Given the description of an element on the screen output the (x, y) to click on. 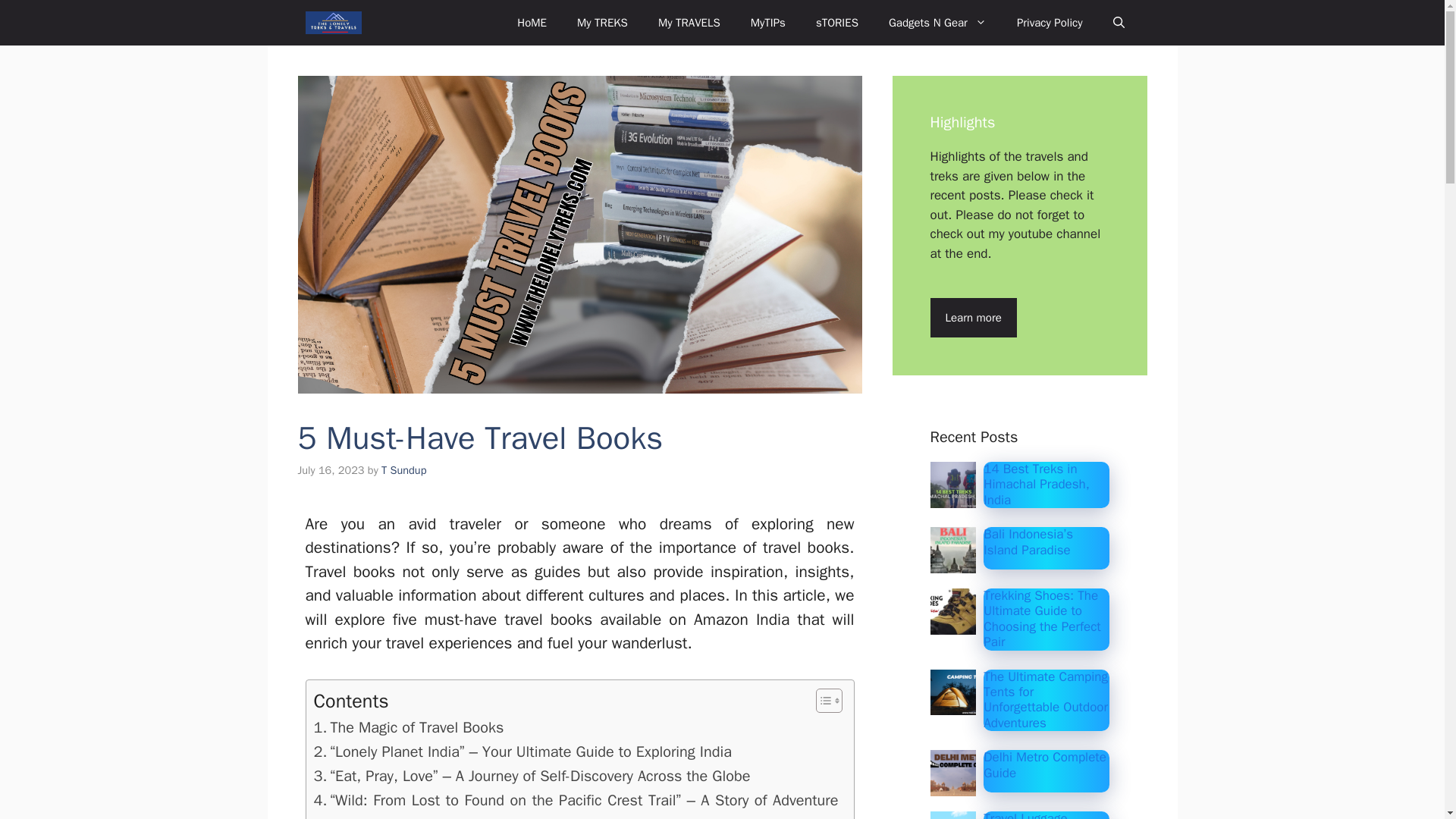
T Sundup (403, 469)
The Magic of Travel Books (408, 727)
MyTIPs (767, 22)
HoME (532, 22)
View all posts by T Sundup (403, 469)
The Magic of Travel Books (408, 727)
Gadgets N Gear (937, 22)
My TRAVELS (689, 22)
Privacy Policy (1049, 22)
sTORIES (836, 22)
My TREKS (602, 22)
